Given the description of an element on the screen output the (x, y) to click on. 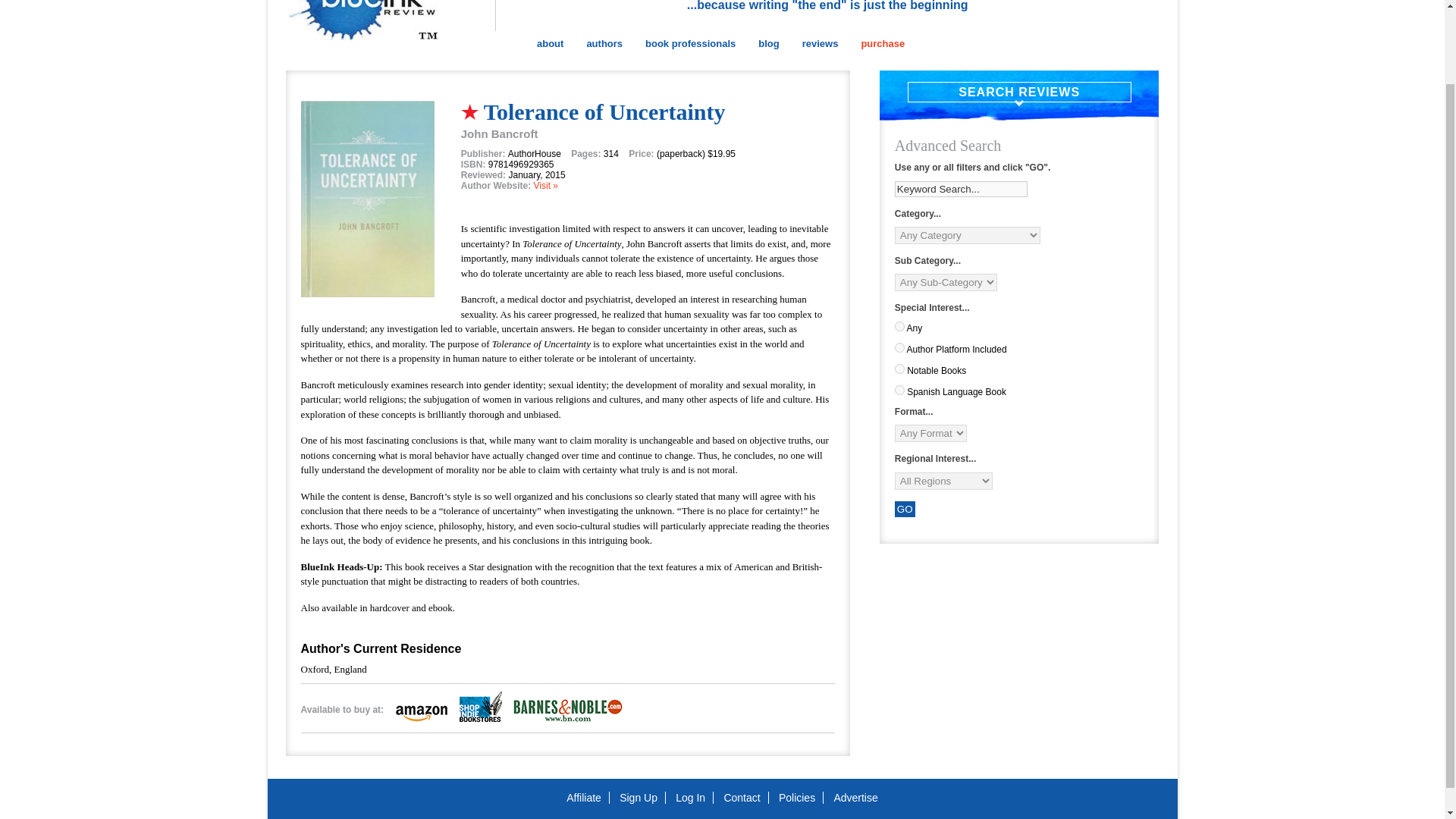
author-platform-included (899, 347)
GO (905, 508)
spanish-language-book (899, 389)
notable-books (899, 368)
